Given the description of an element on the screen output the (x, y) to click on. 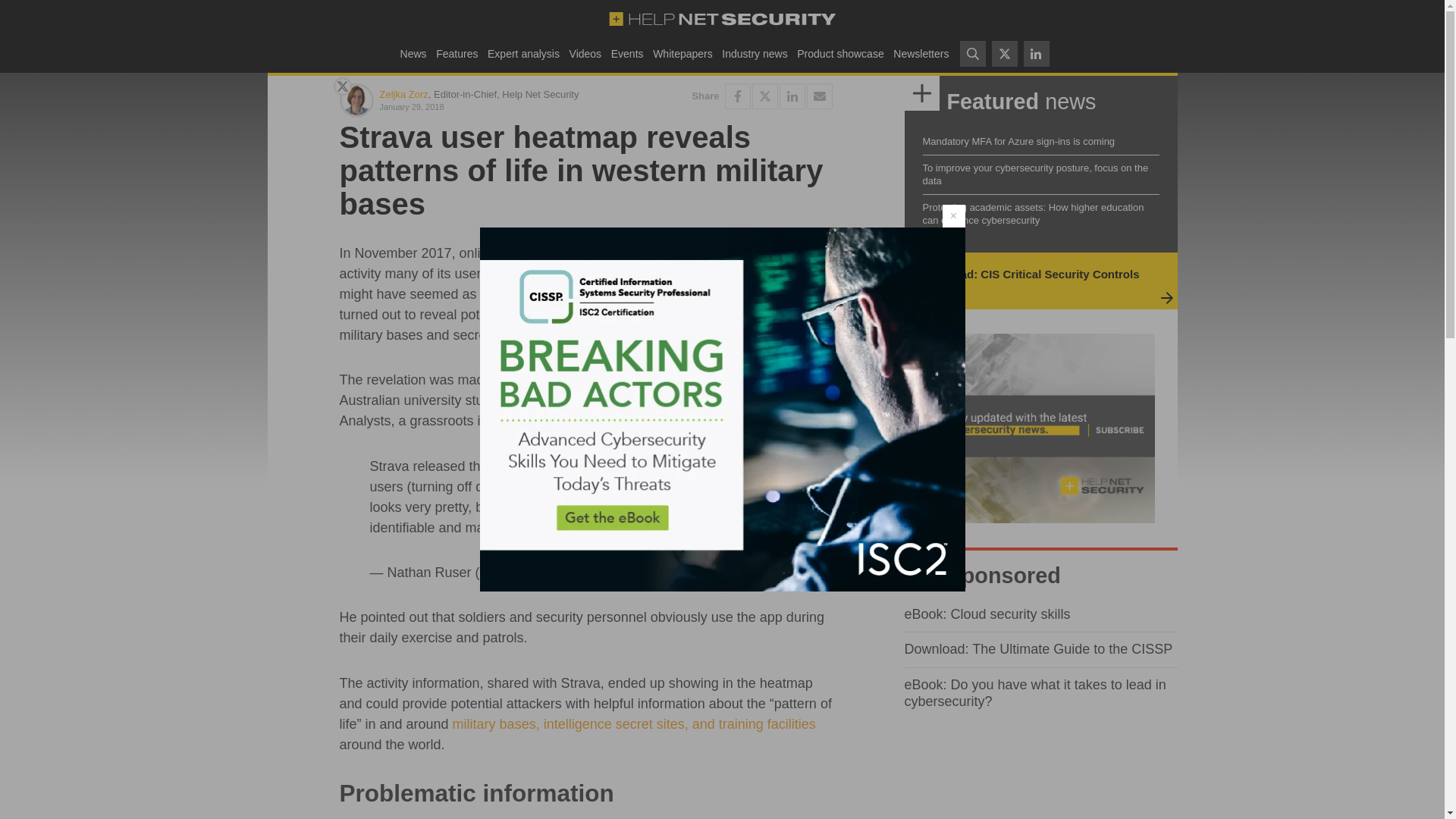
shared (543, 379)
Mandatory MFA for Azure sign-ins is coming (1018, 141)
To improve your cybersecurity posture, focus on the data (1034, 174)
heatmap (731, 253)
Videos (584, 53)
Industry news (754, 53)
January 29, 2018 (478, 106)
